Given the description of an element on the screen output the (x, y) to click on. 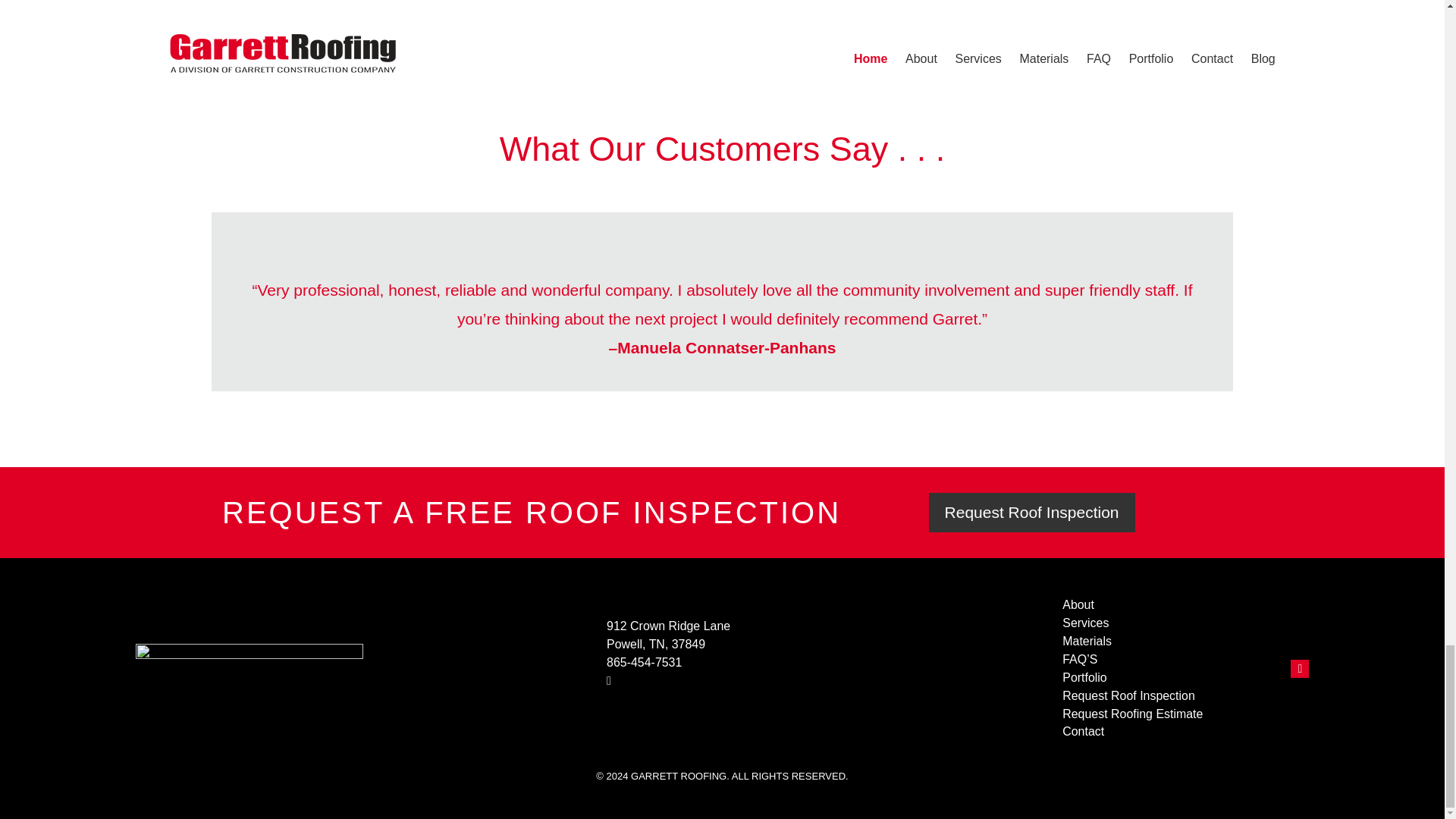
865-454-7531 (668, 662)
Request Roof Inspection (1031, 512)
Request Roofing Estimate (1160, 714)
Request Roof Inspection (1160, 696)
Services (1160, 623)
Materials (1160, 641)
About (1160, 605)
Portfolio (1160, 678)
Contact (1160, 731)
